Given the description of an element on the screen output the (x, y) to click on. 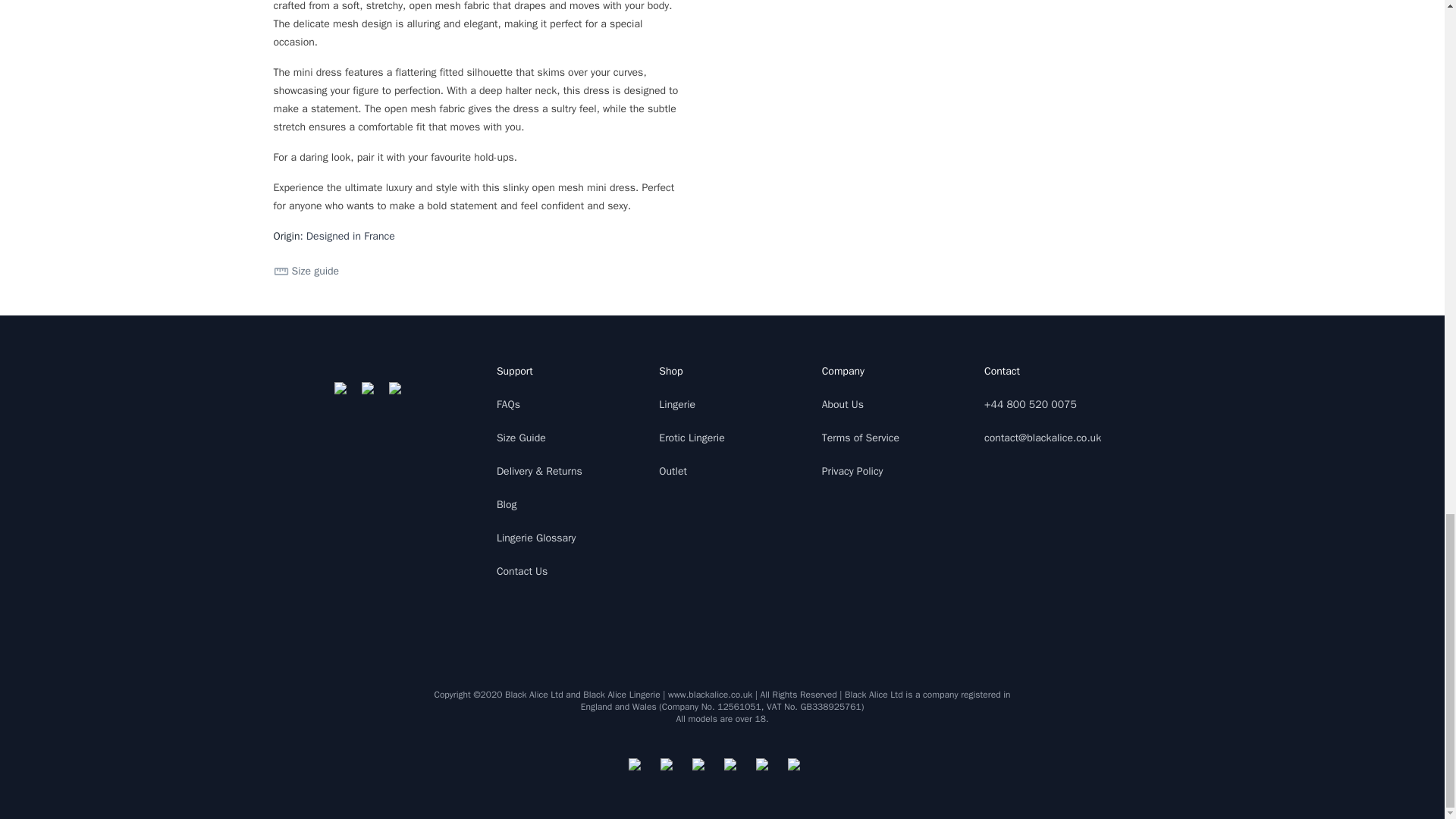
Outlet (673, 471)
About Us (842, 404)
Terms of Service (860, 437)
Lingerie (677, 404)
Blog (506, 504)
Erotic Lingerie (691, 437)
Size guide (306, 271)
Size Guide (521, 437)
FAQs (507, 404)
Privacy Policy (852, 471)
Lingerie Glossary (536, 537)
Contact Us (521, 571)
